Given the description of an element on the screen output the (x, y) to click on. 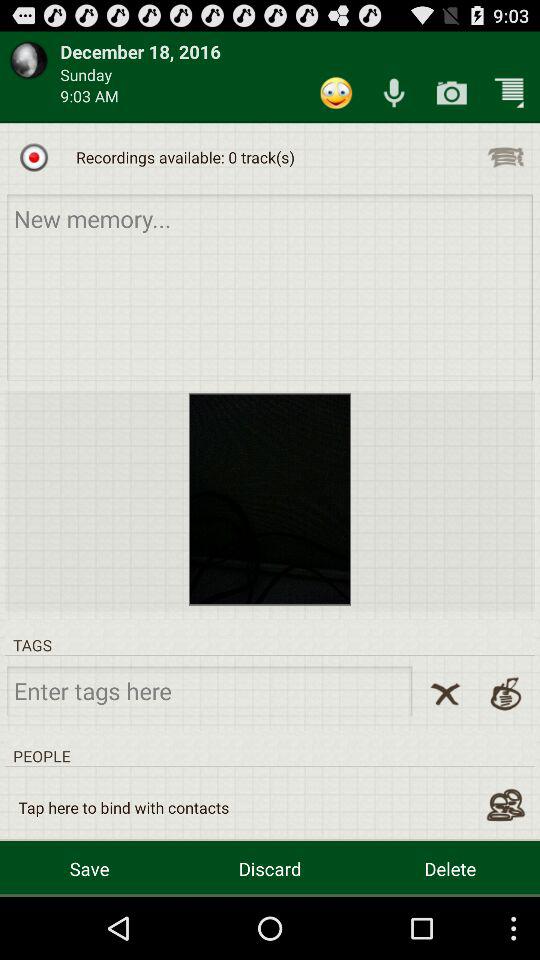
turn off the item above save icon (123, 807)
